Given the description of an element on the screen output the (x, y) to click on. 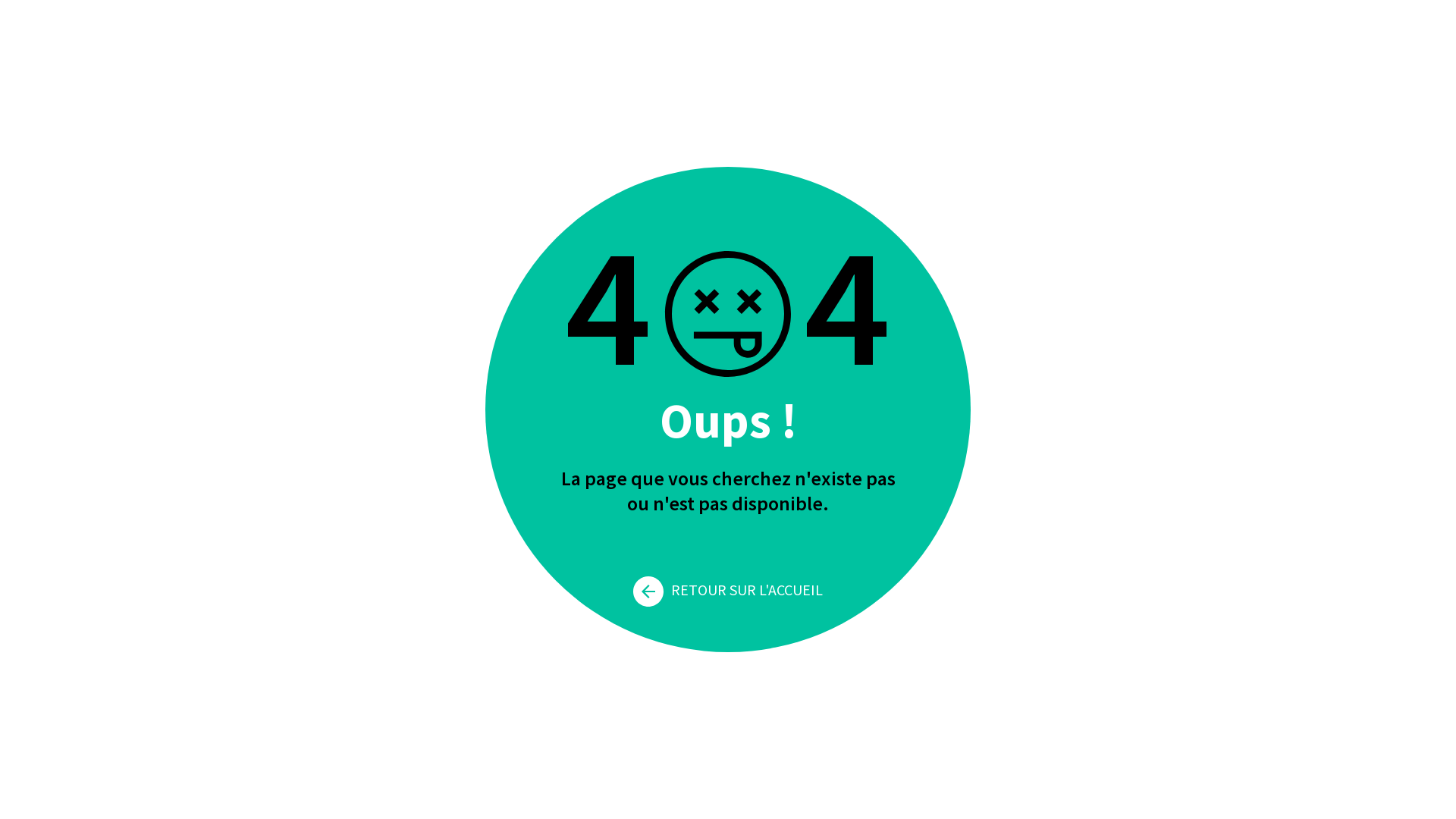
RETOUR SUR L'ACCUEIL Element type: text (727, 589)
